Given the description of an element on the screen output the (x, y) to click on. 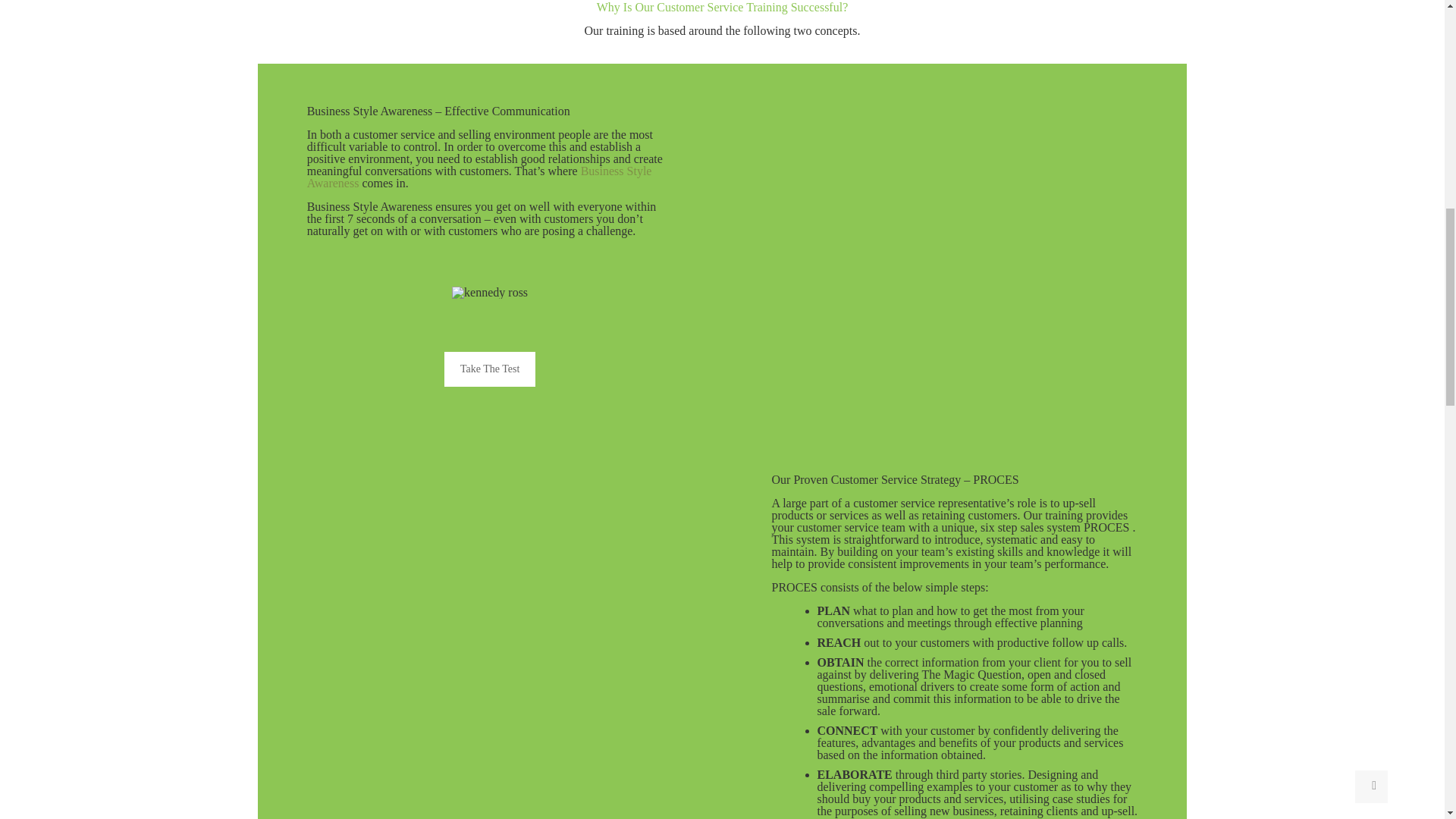
bsa-icons (489, 292)
